Given the description of an element on the screen output the (x, y) to click on. 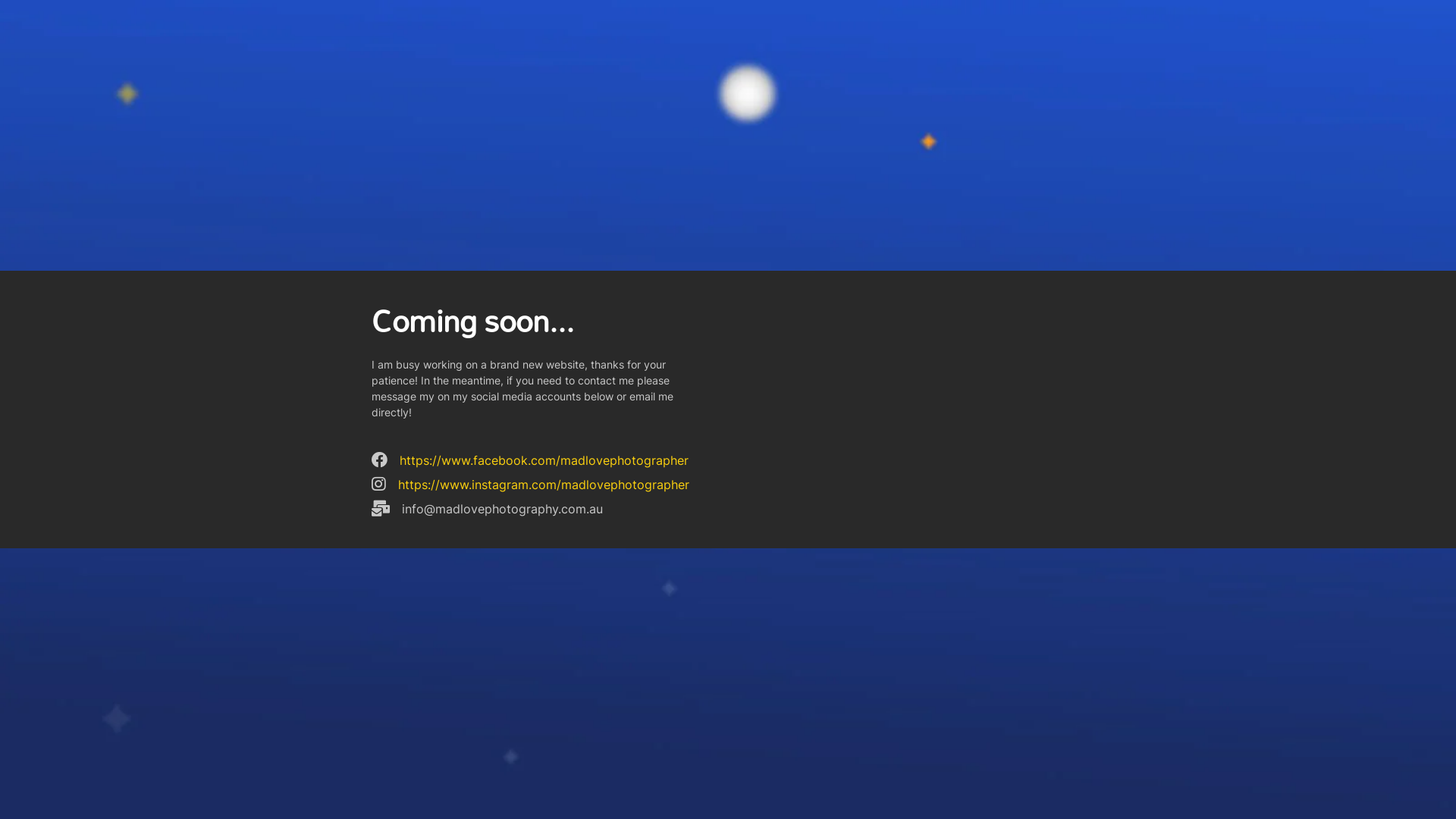
https://www.instagram.com/madlovephotographer Element type: text (543, 484)
https://www.facebook.com/madlovephotographer Element type: text (543, 459)
